Given the description of an element on the screen output the (x, y) to click on. 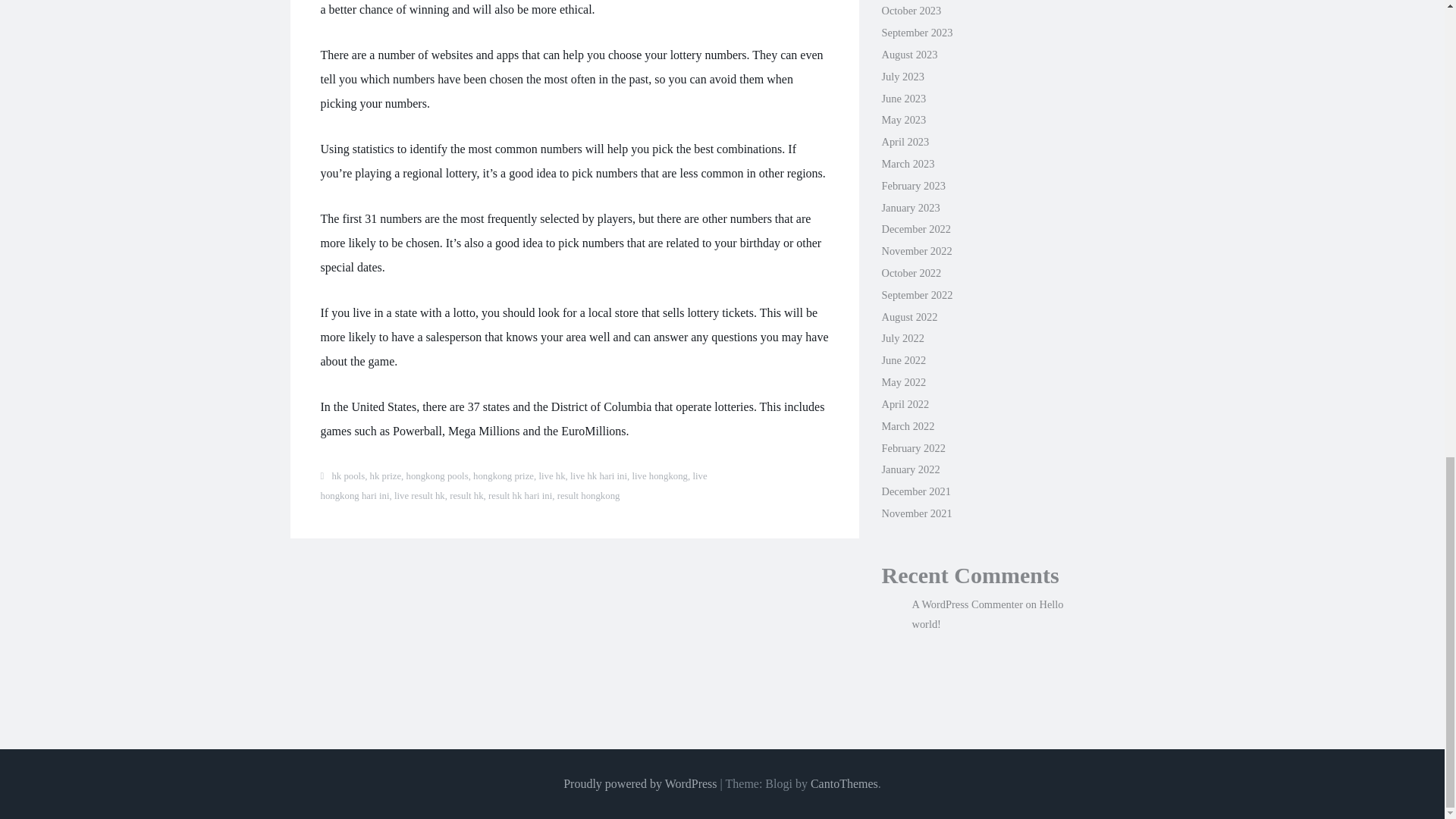
live hongkong hari ini (513, 485)
hongkong prize (503, 475)
hk prize (385, 475)
result hk hari ini (519, 495)
live hk (551, 475)
result hk (466, 495)
live hk hari ini (598, 475)
live result hk (419, 495)
result hongkong (588, 495)
live hongkong (659, 475)
